Given the description of an element on the screen output the (x, y) to click on. 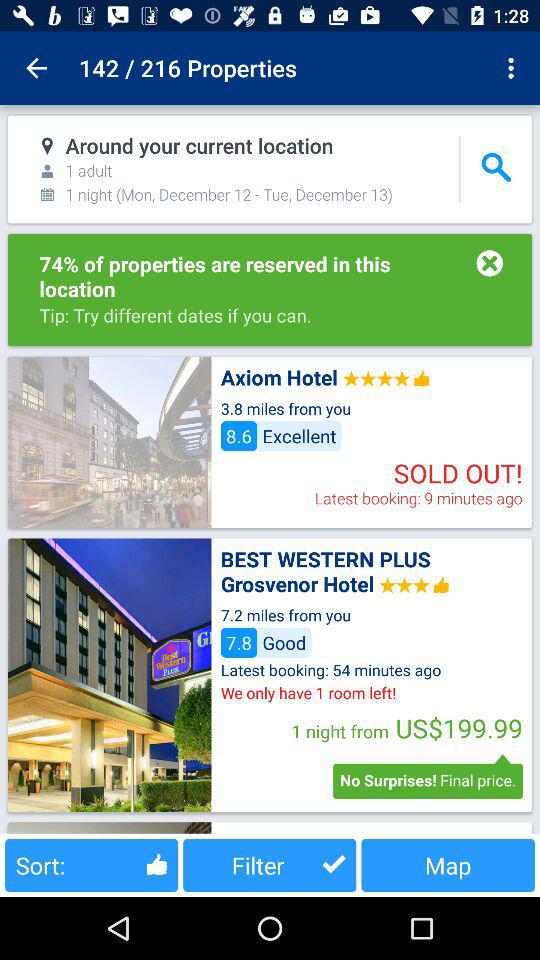
open hotel page (109, 674)
